Given the description of an element on the screen output the (x, y) to click on. 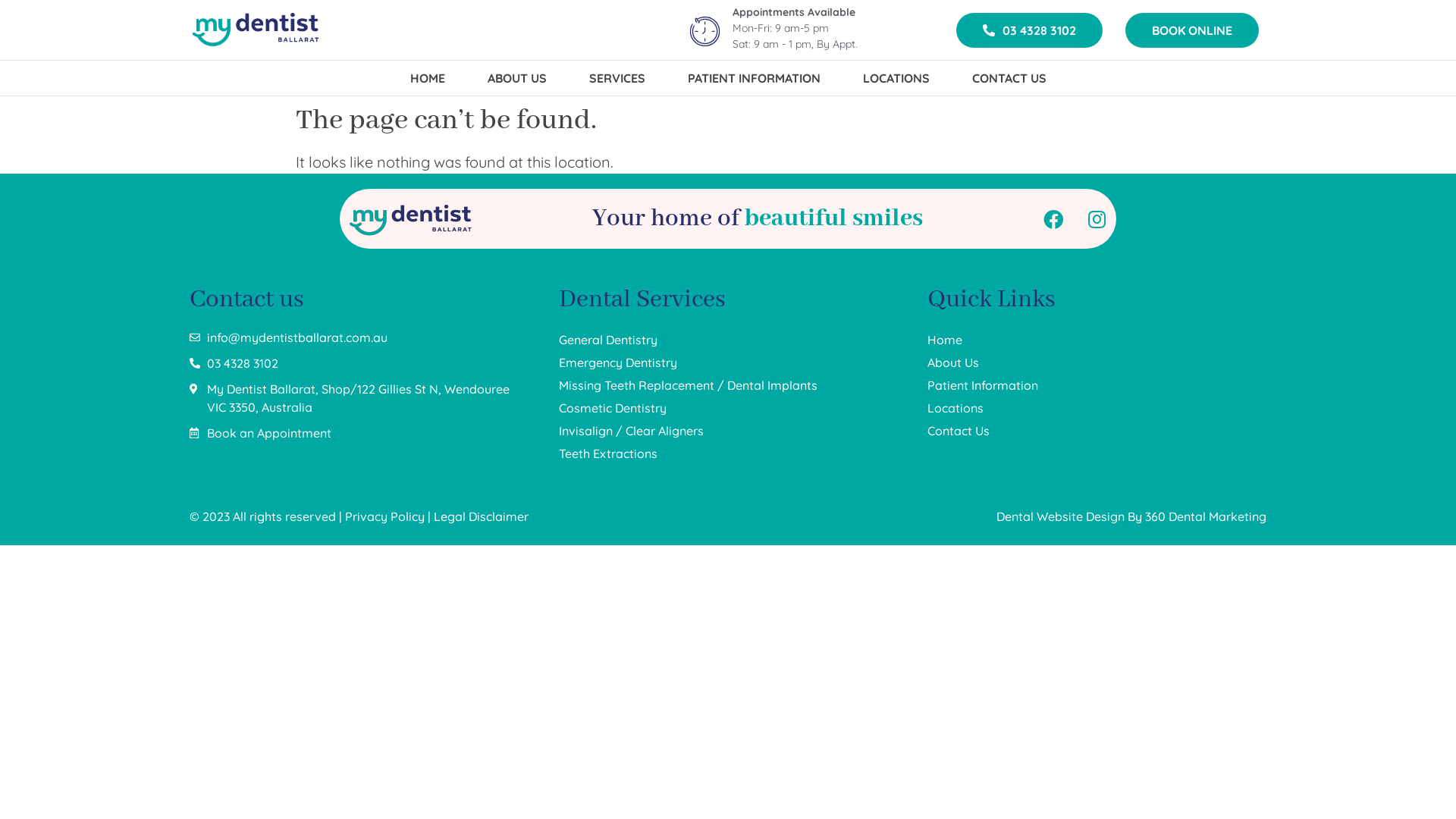
Contact Us Element type: text (1096, 430)
SERVICES Element type: text (616, 77)
Dental Website Design By Element type: text (1070, 516)
03 4328 3102 Element type: text (1029, 29)
360 Dental Marketing Element type: text (1205, 516)
Book an Appointment Element type: text (358, 432)
PATIENT INFORMATION Element type: text (752, 77)
03 4328 3102 Element type: text (358, 363)
Invisalign / Clear Aligners Element type: text (727, 430)
Patient Information Element type: text (1096, 384)
info@mydentistballarat.com.au Element type: text (358, 337)
Home Element type: text (1096, 339)
CONTACT US Element type: text (1008, 77)
Locations Element type: text (1096, 407)
LOCATIONS Element type: text (895, 77)
Privacy Policy Element type: text (384, 516)
Emergency Dentistry Element type: text (727, 362)
ABOUT US Element type: text (516, 77)
About Us Element type: text (1096, 362)
Teeth Extractions Element type: text (727, 453)
Cosmetic Dentistry Element type: text (727, 407)
Legal Disclaimer Element type: text (480, 516)
Missing Teeth Replacement / Dental Implants Element type: text (727, 384)
HOME Element type: text (426, 77)
BOOK ONLINE Element type: text (1191, 29)
General Dentistry Element type: text (727, 339)
